Given the description of an element on the screen output the (x, y) to click on. 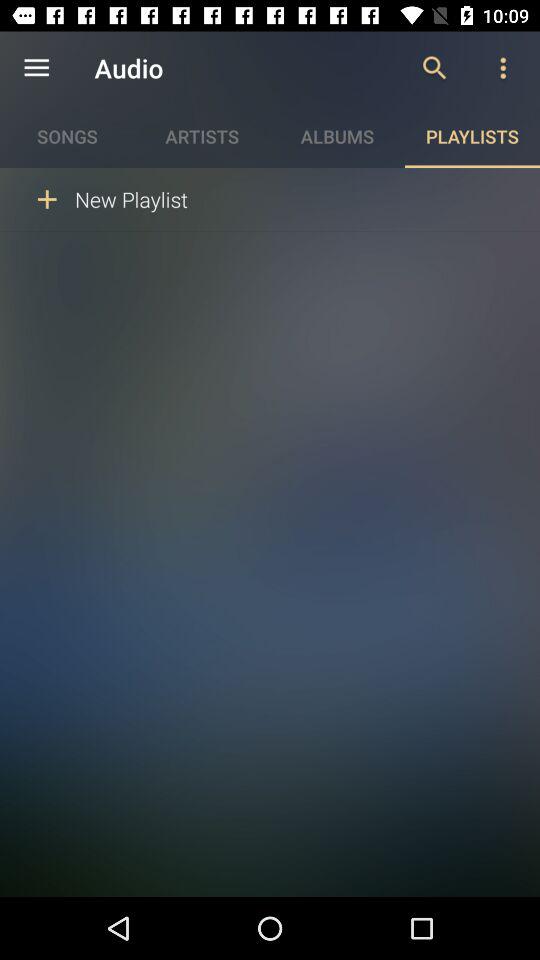
click the item next to the audio icon (36, 68)
